Given the description of an element on the screen output the (x, y) to click on. 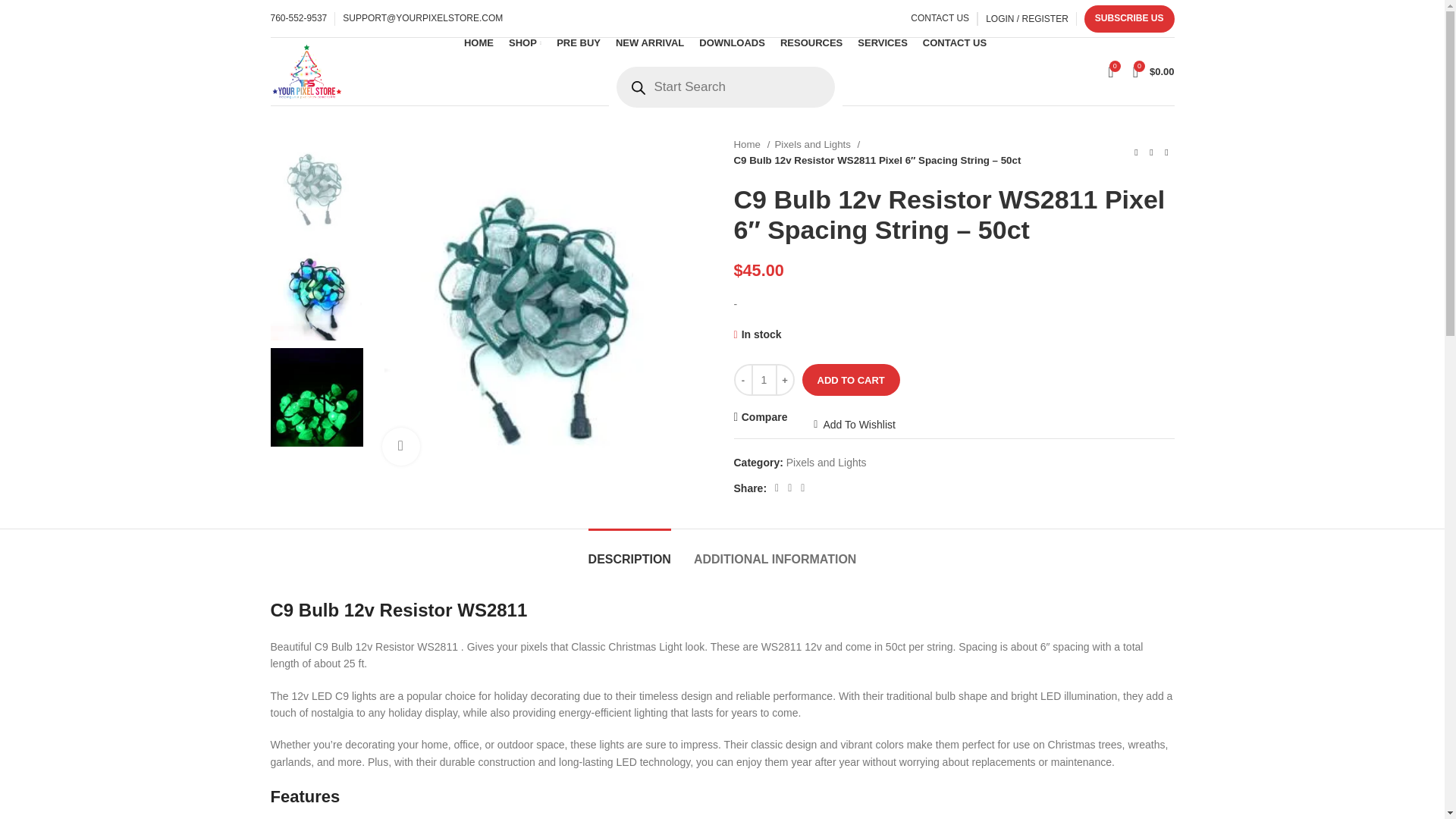
My account (1026, 18)
Shopping cart (1153, 71)
C9 Bulb (539, 306)
SHOP (524, 42)
CONTACT US (940, 18)
SUBSCRIBE US (1129, 17)
760-552-9537 (297, 18)
HOME (478, 42)
